Given the description of an element on the screen output the (x, y) to click on. 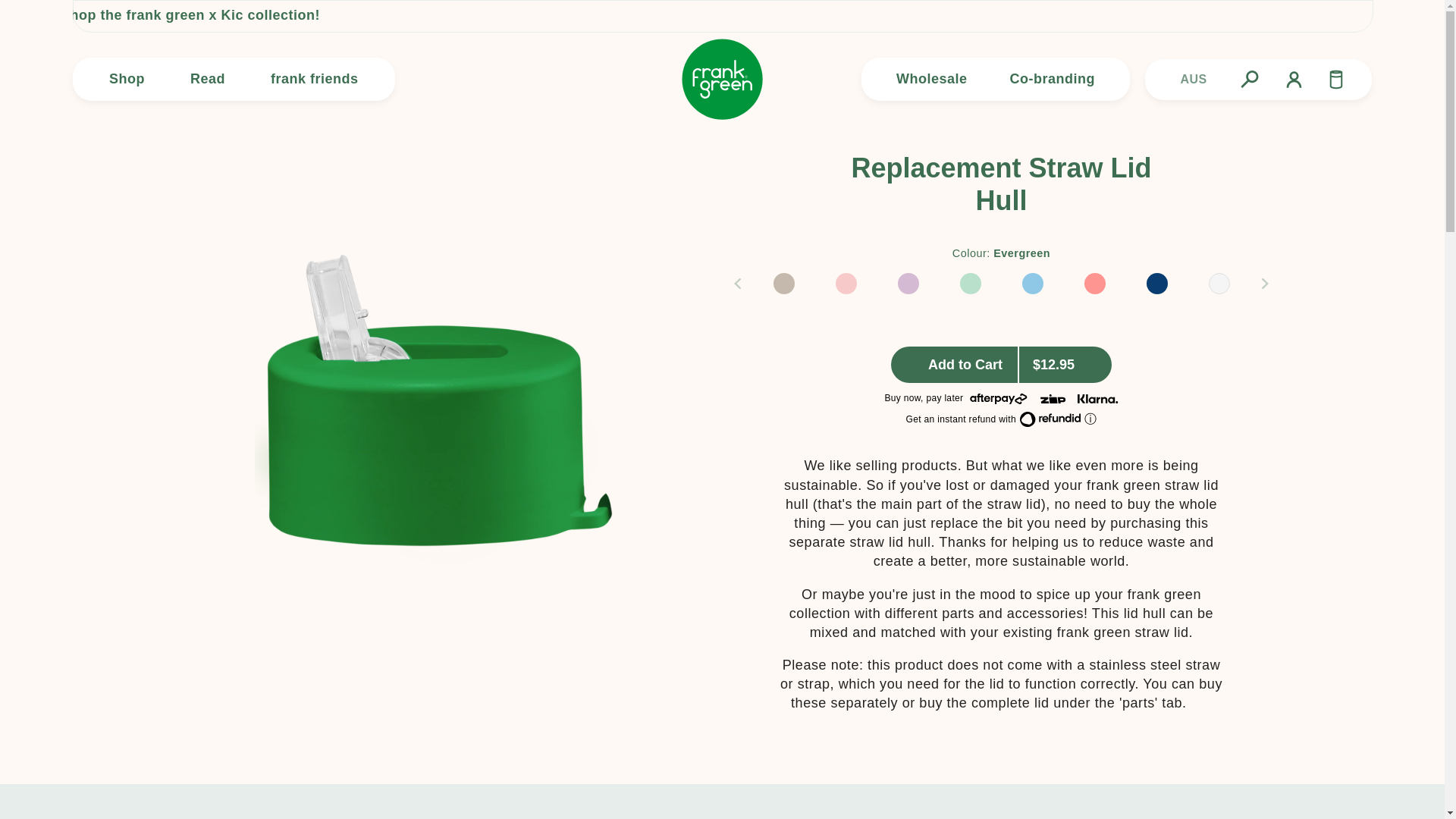
Shop (126, 78)
Wholesale (931, 78)
Lilac Haze (907, 283)
Sweet Peach (1094, 283)
Cloud (1218, 283)
Moon Dust (782, 283)
Co-branding (1051, 78)
Deep Ocean (1155, 283)
Read (207, 78)
Blushed (845, 283)
Shop the frank green x Kic collection! (420, 15)
Sky Blue (1031, 283)
frank friends (314, 78)
Mint Gelato (969, 283)
